Given the description of an element on the screen output the (x, y) to click on. 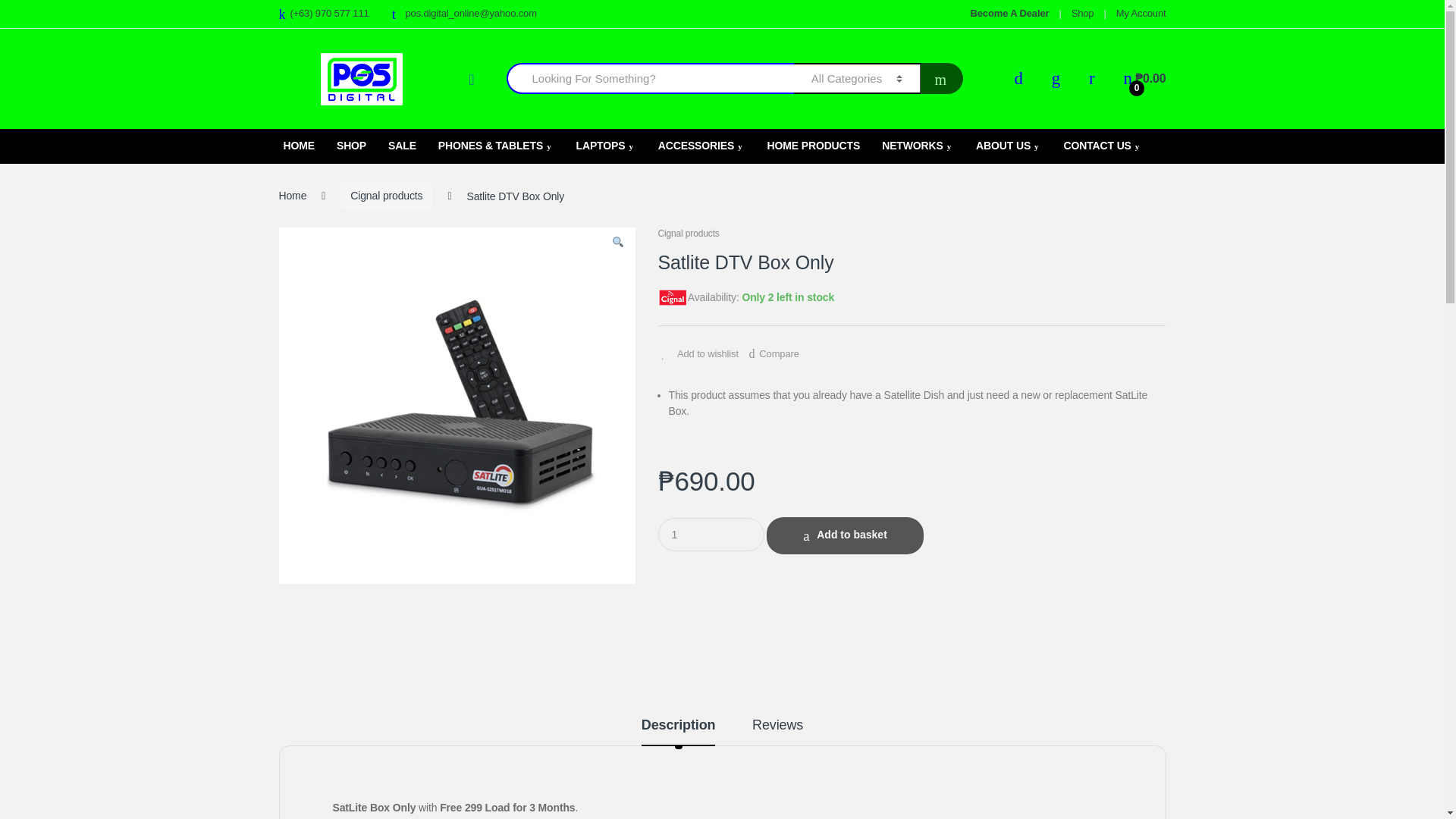
Shop (1082, 13)
1 (711, 534)
Shop (1082, 13)
Become A Dealer (1010, 13)
My Account (1141, 13)
